Given the description of an element on the screen output the (x, y) to click on. 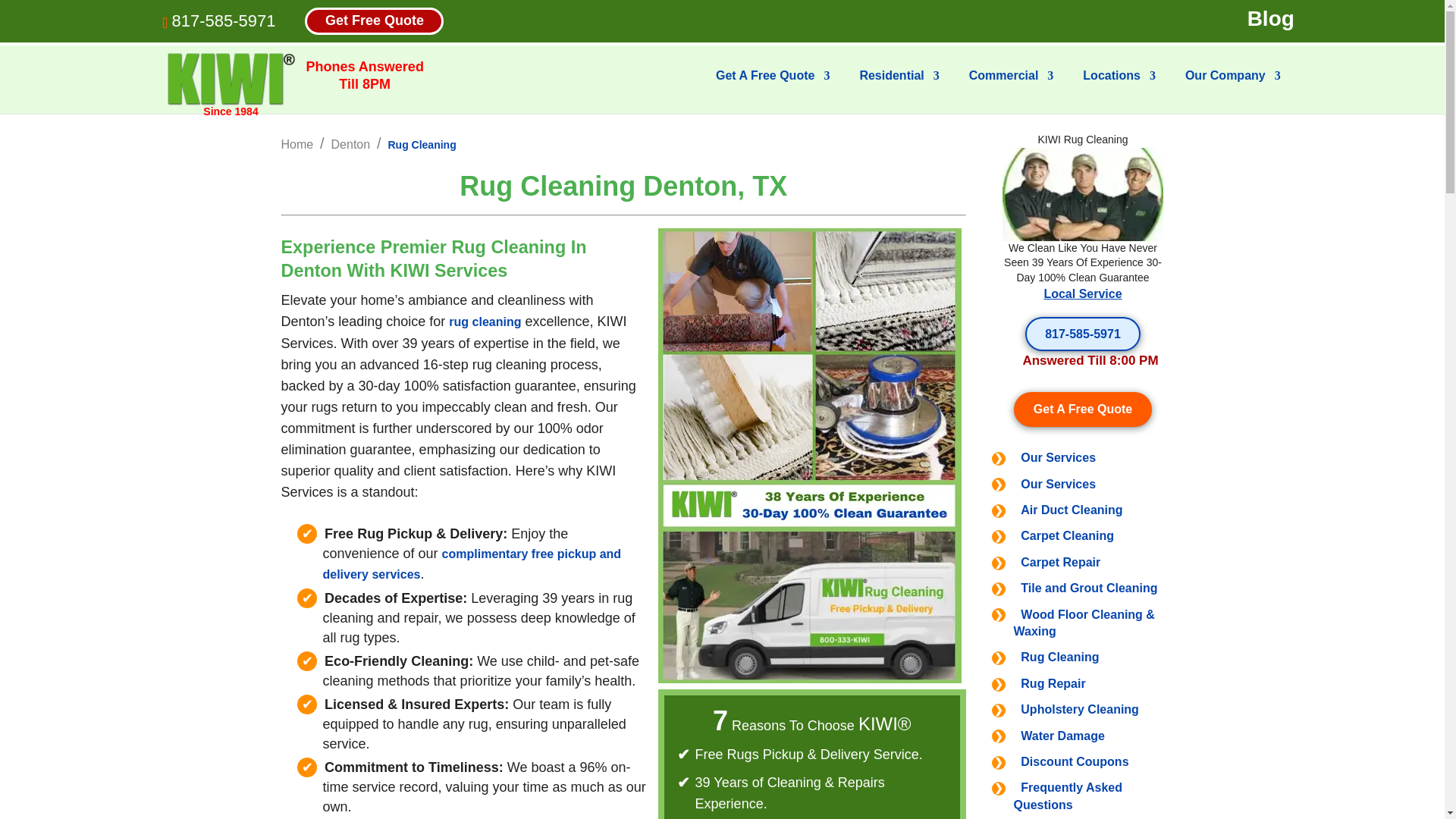
Blog (1270, 18)
Get Free Quote On This Week's Special (1082, 408)
Get Free Quote (373, 20)
Get A Free Quote (772, 88)
Residential (899, 88)
Call For This Week's Special (1082, 333)
817-585-5971 (223, 20)
Since 1984 (230, 79)
Carpet Cleaners From Kiwi (1083, 194)
KIWI Cleaning Services (230, 79)
